Given the description of an element on the screen output the (x, y) to click on. 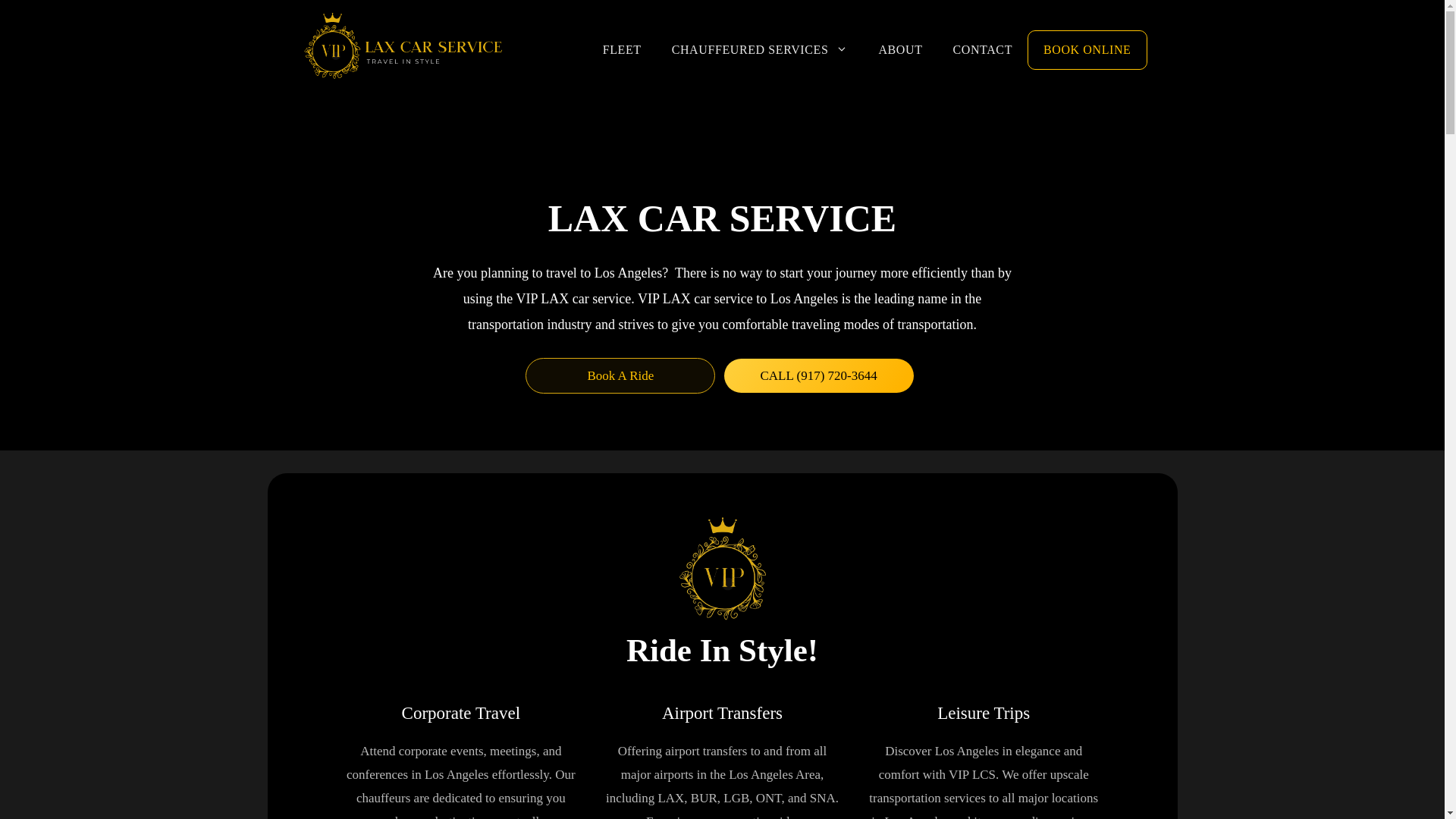
BOOK ONLINE (1086, 49)
ABOUT (900, 49)
FLEET (622, 49)
CHAUFFEURED SERVICES (759, 49)
CONTACT (982, 49)
Book A Ride (619, 375)
